Given the description of an element on the screen output the (x, y) to click on. 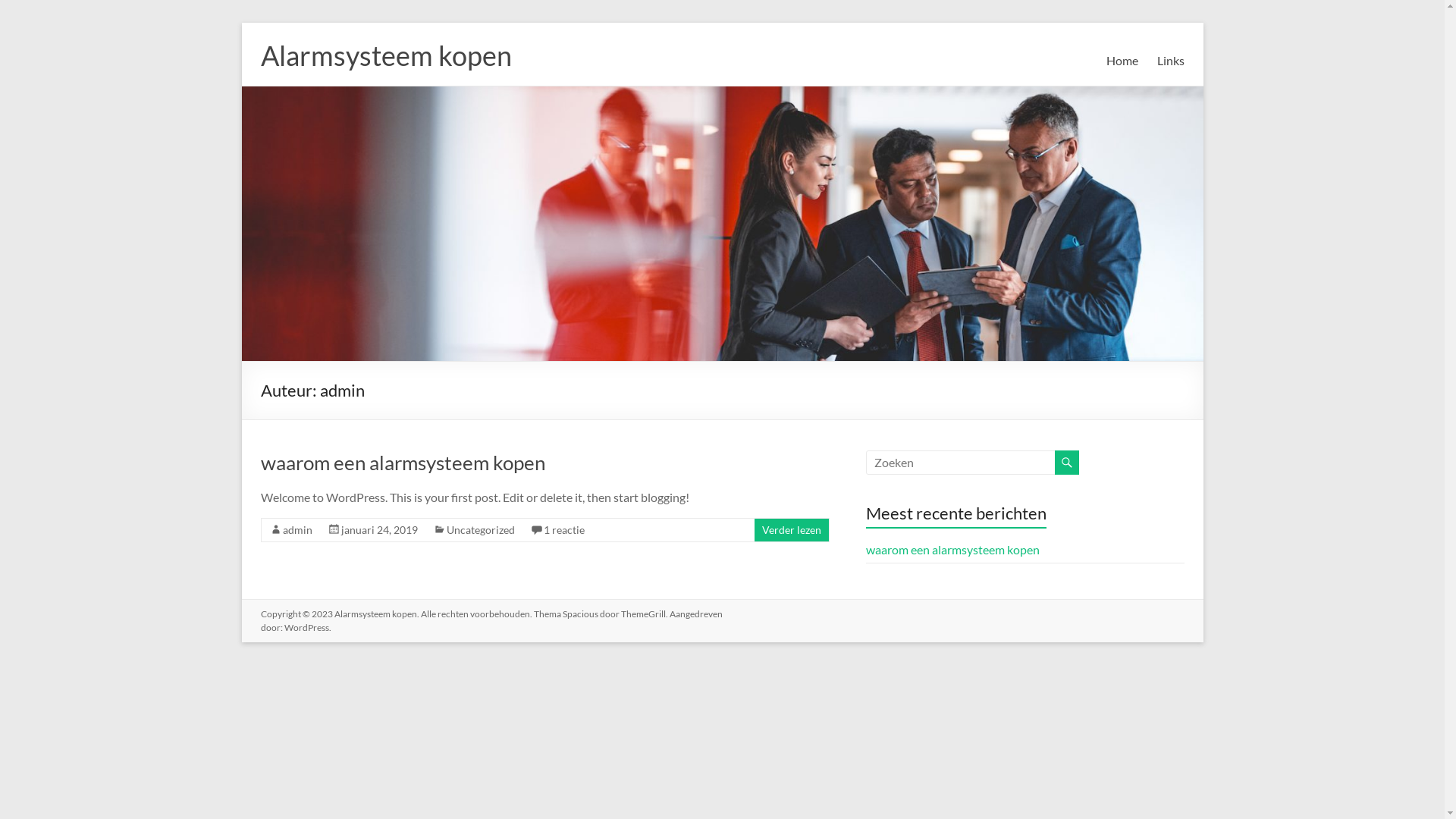
1 reactie Element type: text (562, 529)
Alarmsysteem kopen Element type: text (385, 55)
admin Element type: text (296, 529)
waarom een alarmsysteem kopen Element type: text (402, 462)
Uncategorized Element type: text (479, 529)
Home Element type: text (1121, 60)
Links Element type: text (1170, 60)
Verder lezen Element type: text (790, 529)
waarom een alarmsysteem kopen Element type: text (952, 549)
januari 24, 2019 Element type: text (379, 529)
Spacious Element type: text (580, 613)
WordPress Element type: text (305, 627)
Ga naar inhoud Element type: text (241, 21)
Alarmsysteem kopen Element type: text (374, 613)
